Given the description of an element on the screen output the (x, y) to click on. 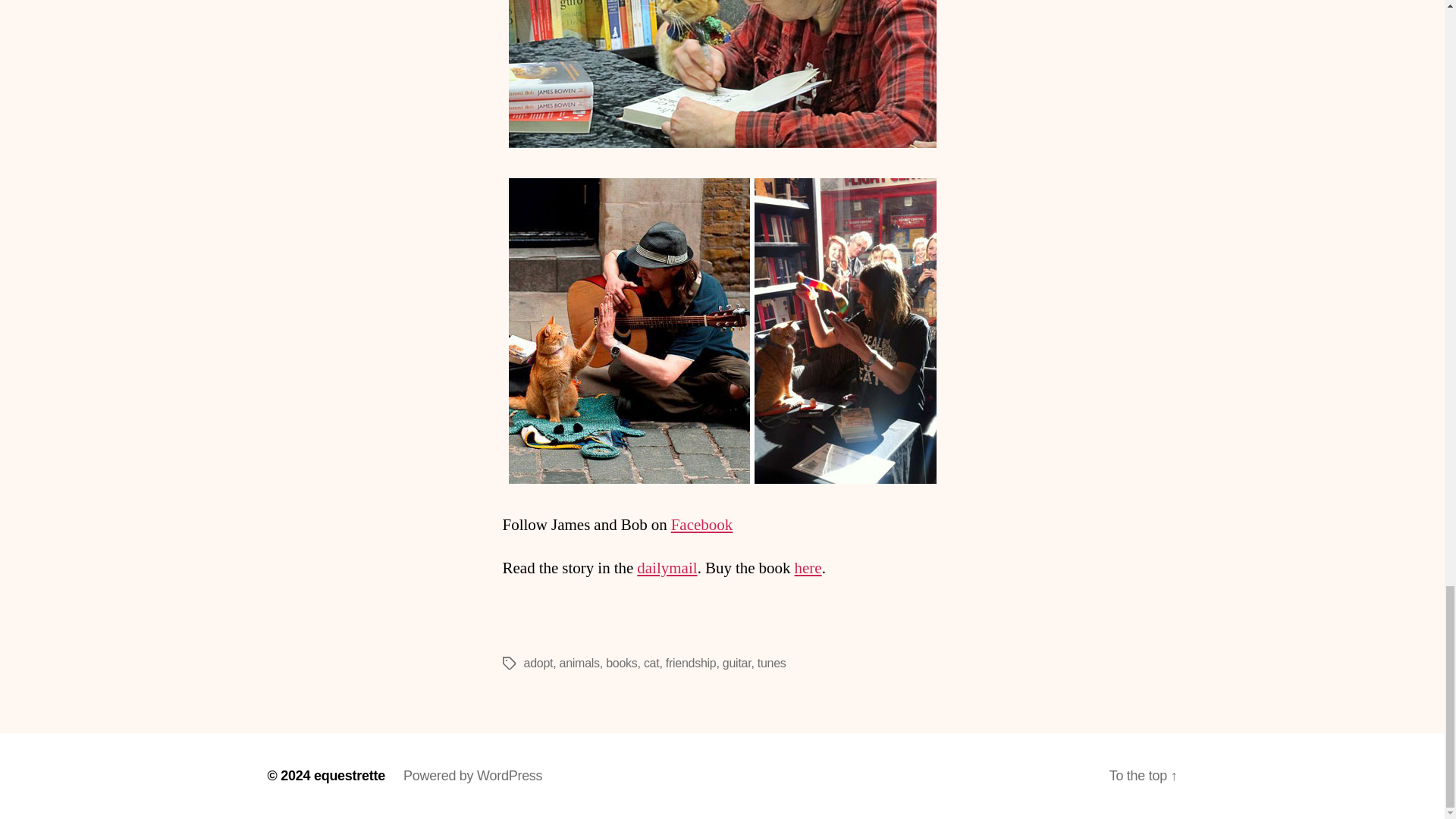
adopt (537, 662)
Powered by WordPress (472, 775)
Bob5 (722, 74)
equestrette (349, 775)
friendship (690, 662)
tunes (771, 662)
animals (579, 662)
Facebook (702, 525)
here (808, 567)
dailymail (667, 567)
dailymail (667, 567)
A Street Cat Named Bob (808, 567)
StreetCatBob on facebook (702, 525)
Bob6 (722, 331)
books (621, 662)
